Given the description of an element on the screen output the (x, y) to click on. 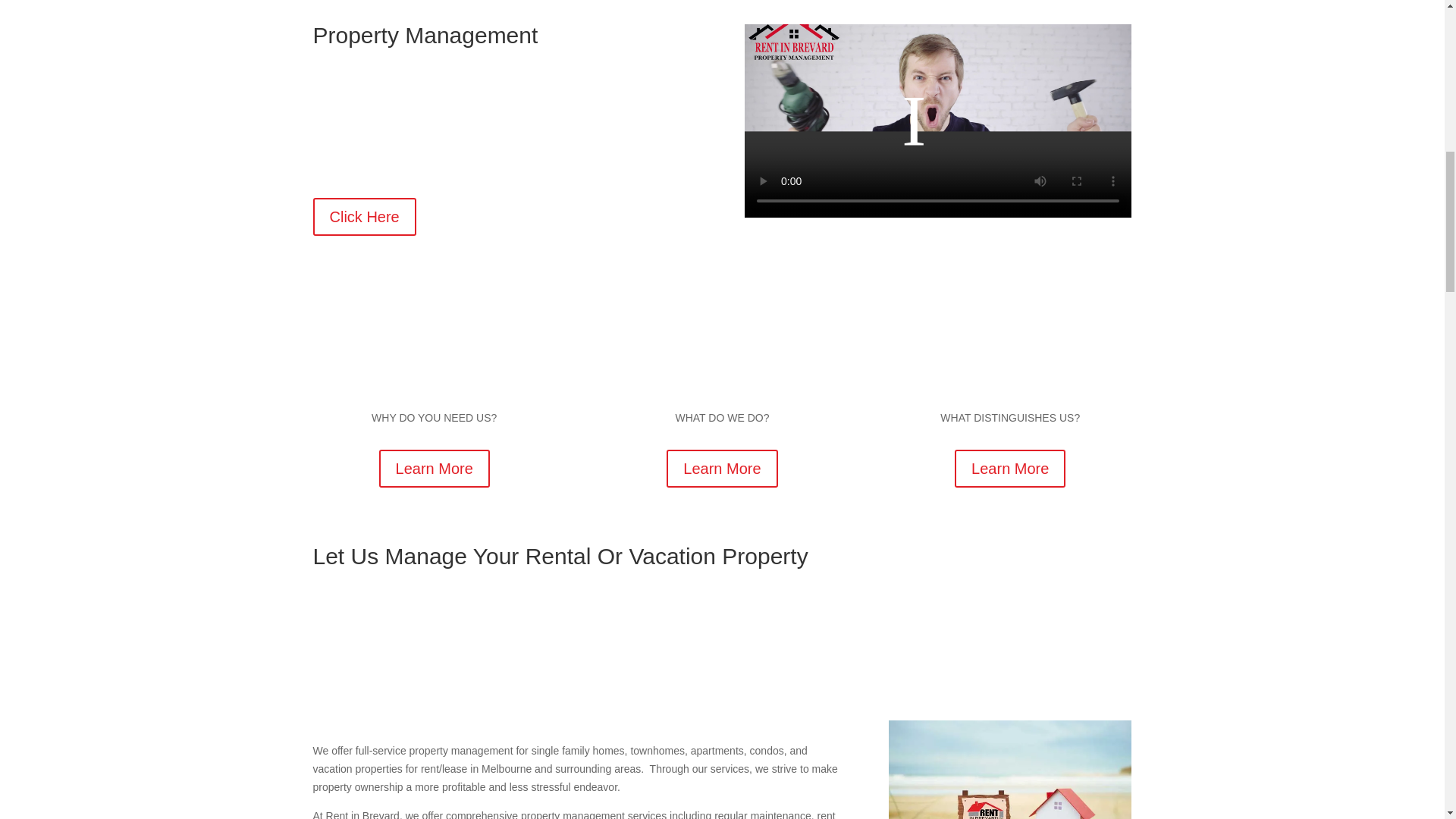
Learn More (1010, 468)
Click Here (363, 216)
Learn More (433, 468)
Get Started with Your Rental Analysis (505, 95)
Call us Now 321-622-3257 (505, 156)
Learn More (721, 468)
